Given the description of an element on the screen output the (x, y) to click on. 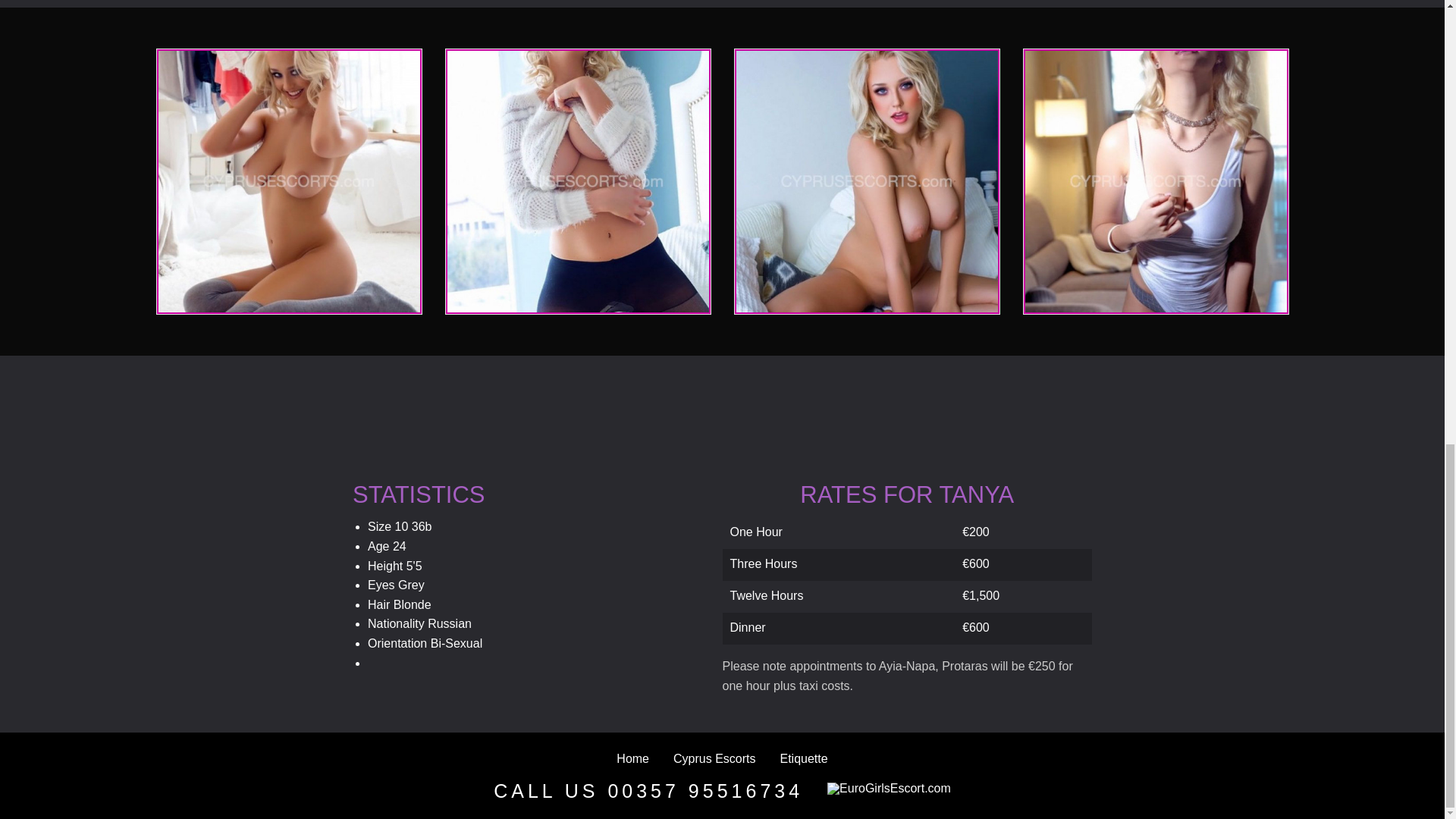
Etiquette (803, 758)
Home (632, 758)
Cyprus Escorts (714, 758)
EuroGirlsEscort.com (888, 788)
CALL US 00357 95516734 (648, 791)
EuroGirlsEscort.com (888, 793)
